Given the description of an element on the screen output the (x, y) to click on. 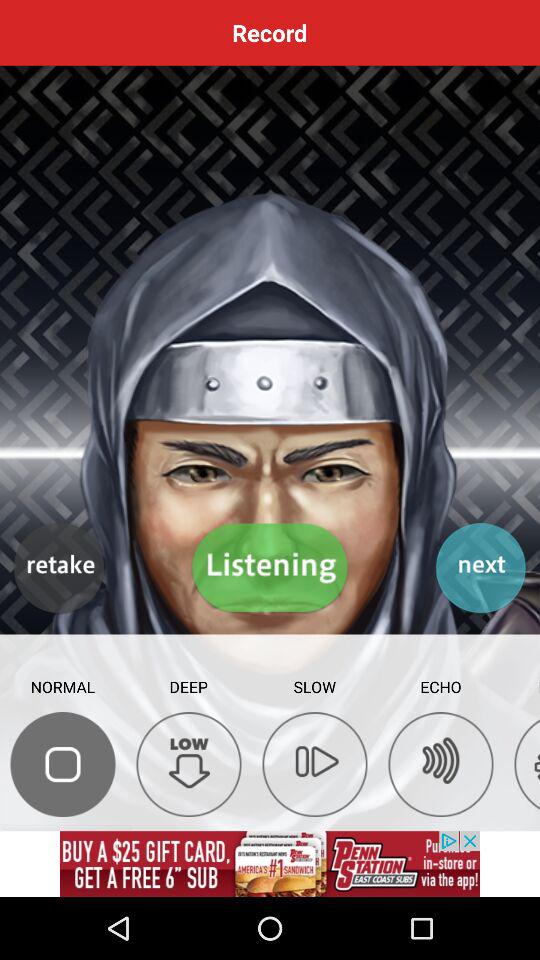
record the second deep low (188, 764)
